Given the description of an element on the screen output the (x, y) to click on. 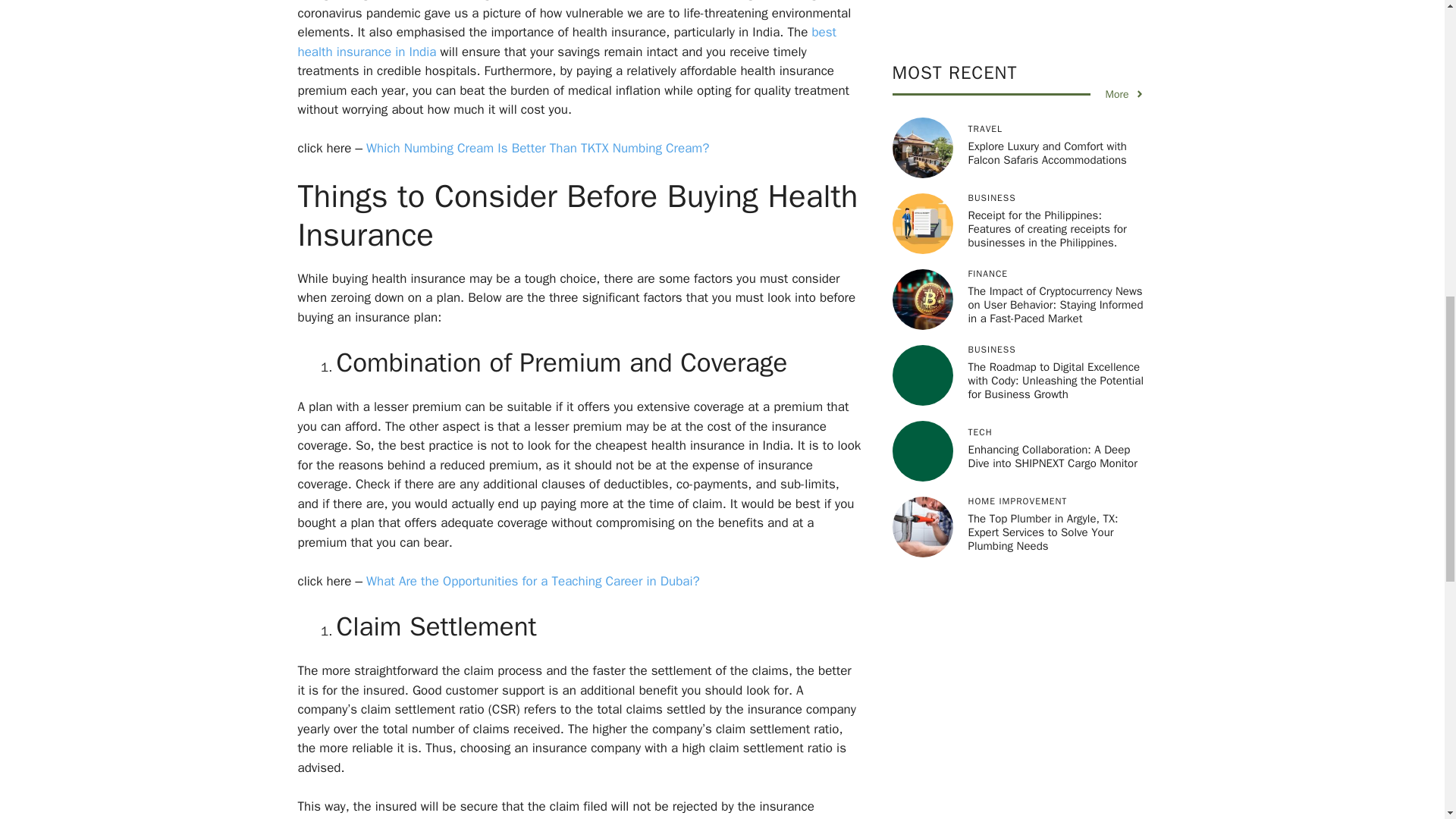
What Are the Opportunities for a Teaching Career in Dubai? (531, 580)
Which Numbing Cream Is Better Than TKTX Numbing Cream? (537, 148)
best health insurance in India (566, 41)
